Given the description of an element on the screen output the (x, y) to click on. 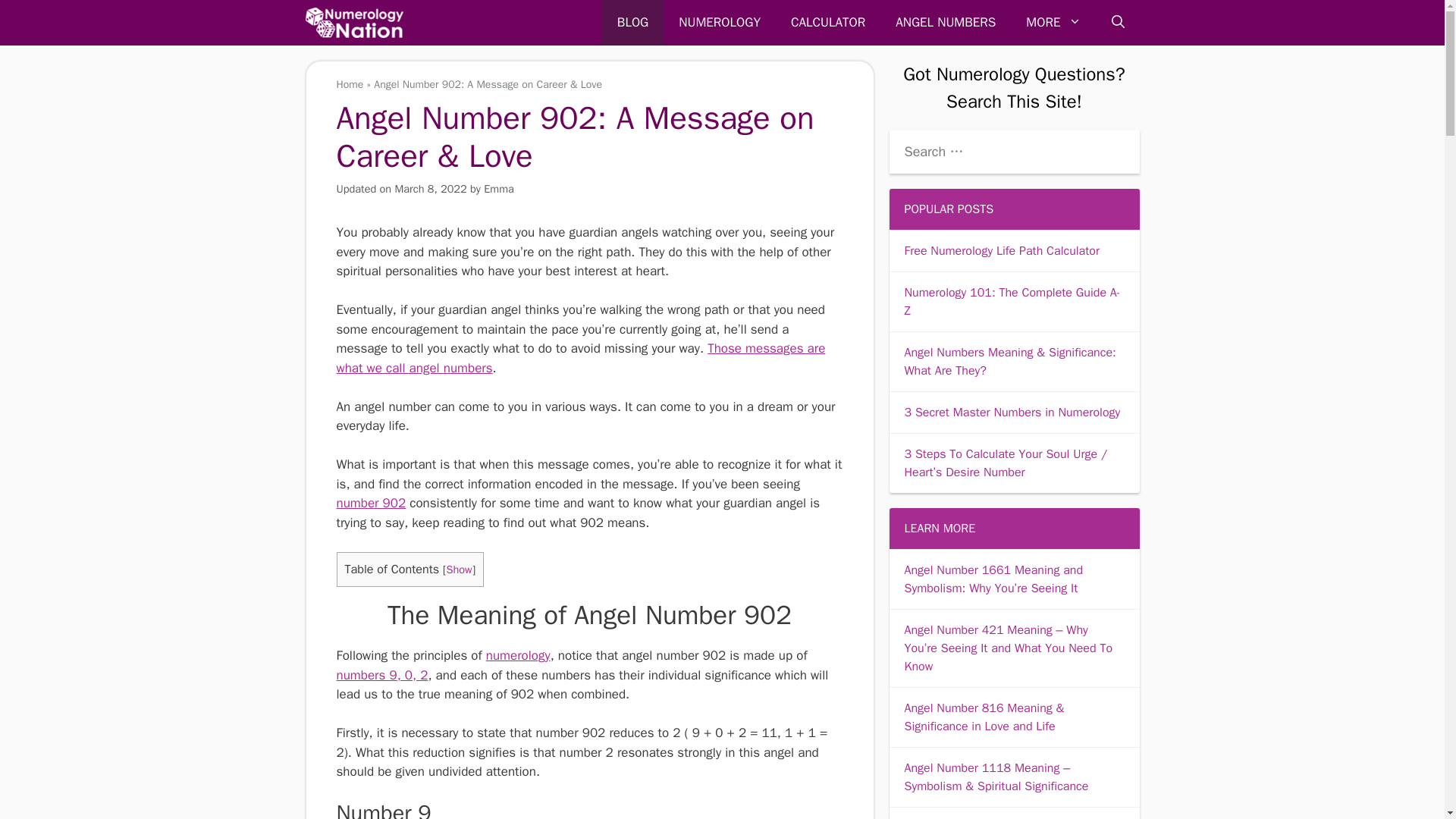
numbers 9, 0, 2 (382, 675)
ANGEL NUMBERS (945, 22)
MORE (1053, 22)
CALCULATOR (828, 22)
number 902 (371, 503)
Search for: (1013, 151)
Those messages are what we call angel numbers (580, 357)
Show (458, 569)
NUMEROLOGY (719, 22)
numerology (518, 655)
